Given the description of an element on the screen output the (x, y) to click on. 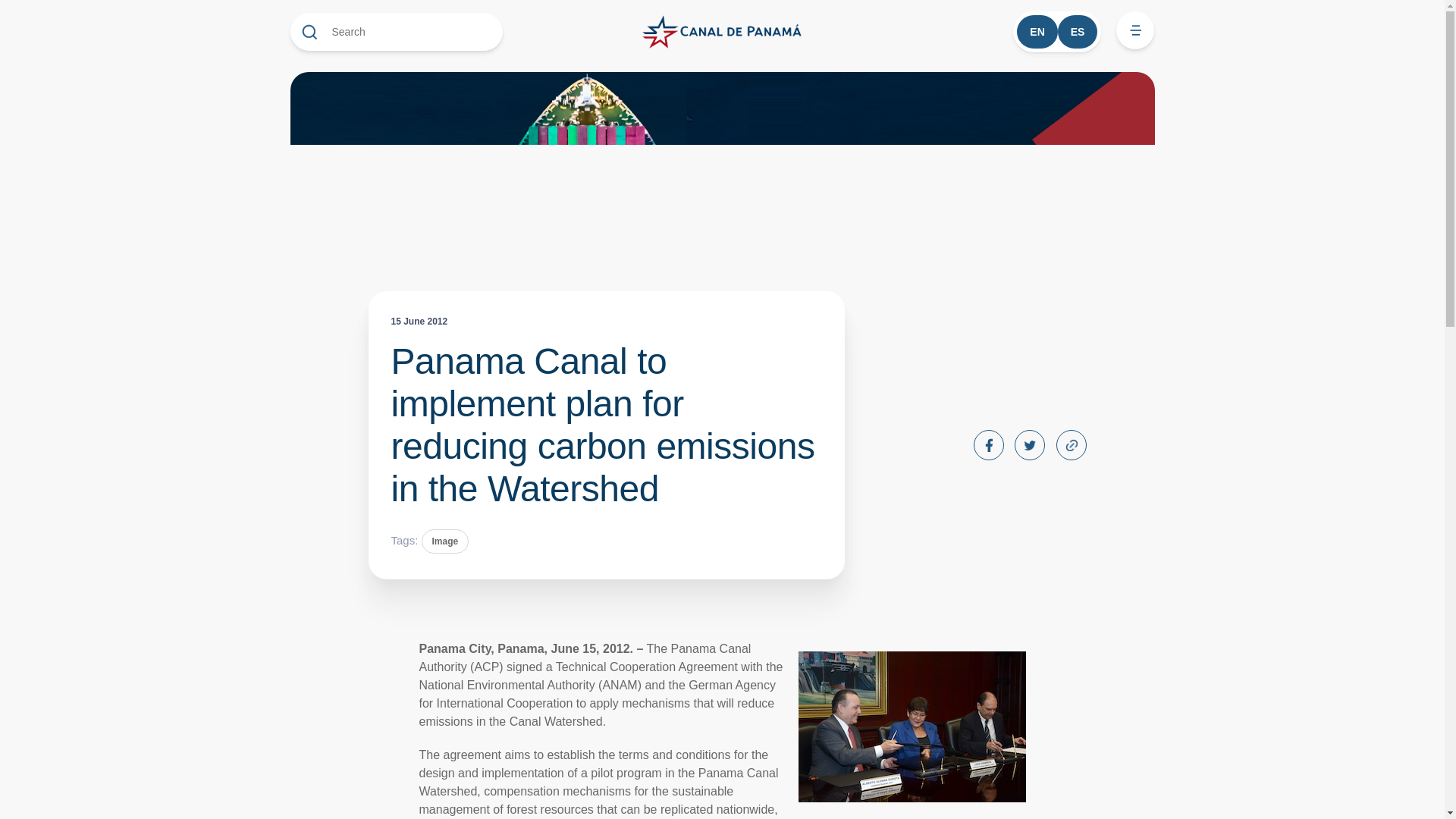
EN (1036, 31)
ES (1077, 31)
